Given the description of an element on the screen output the (x, y) to click on. 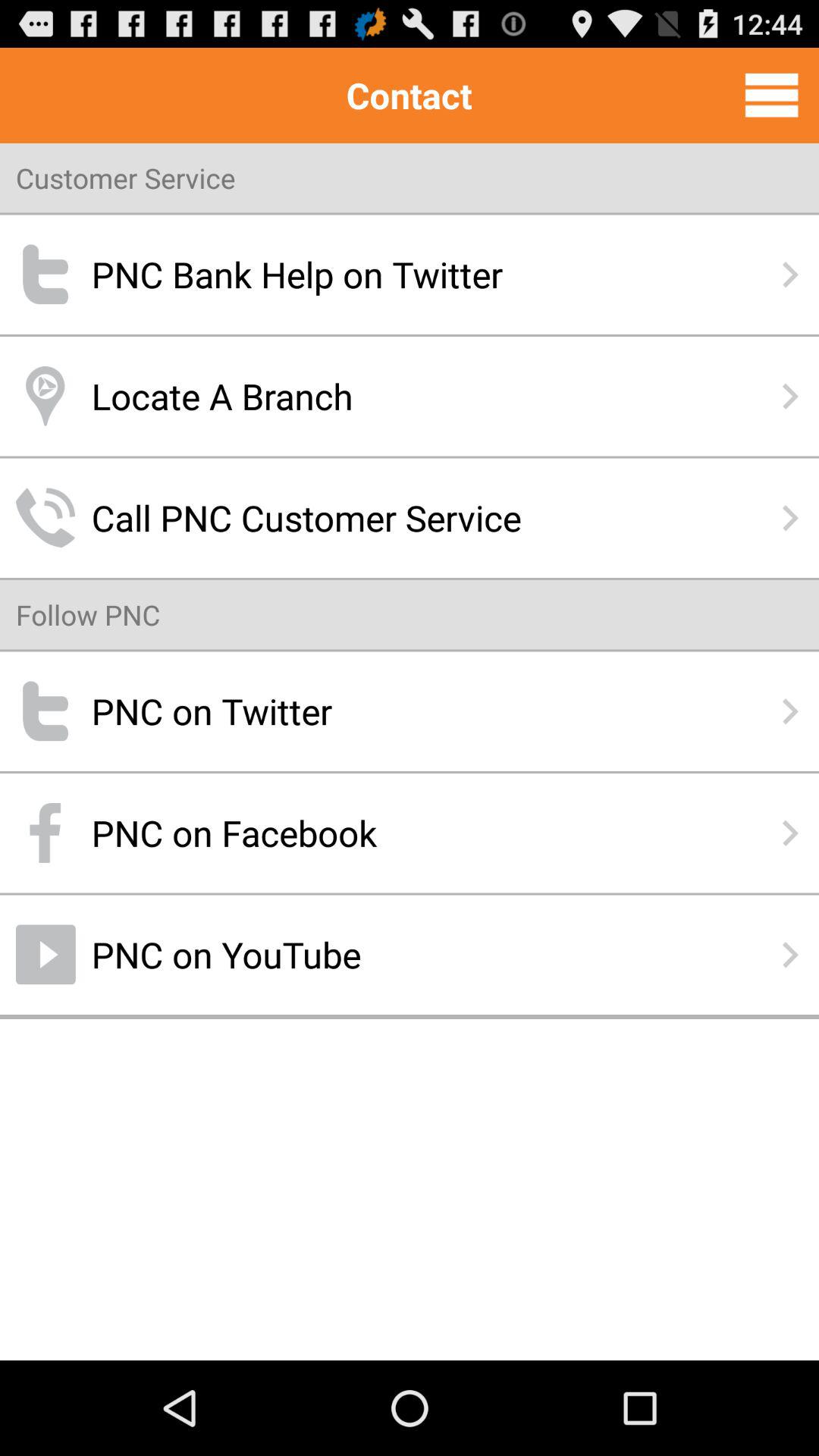
tap the item above follow pnc item (409, 517)
